Given the description of an element on the screen output the (x, y) to click on. 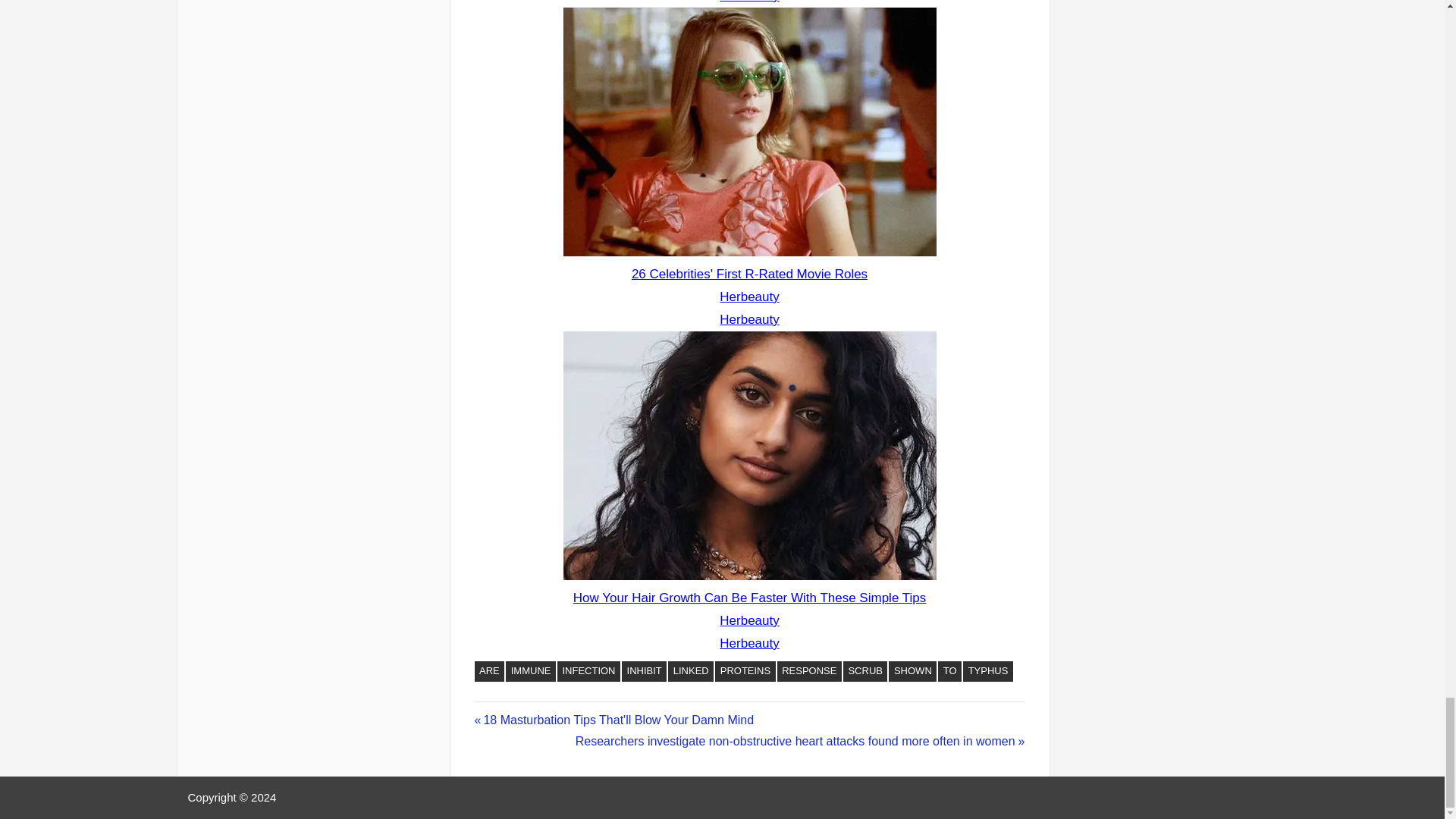
TO (948, 671)
ARE (489, 671)
IMMUNE (530, 671)
RESPONSE (809, 671)
SHOWN (912, 671)
TYPHUS (987, 671)
INHIBIT (643, 671)
LINKED (690, 671)
INFECTION (588, 671)
PROTEINS (744, 671)
SCRUB (865, 671)
